Given the description of an element on the screen output the (x, y) to click on. 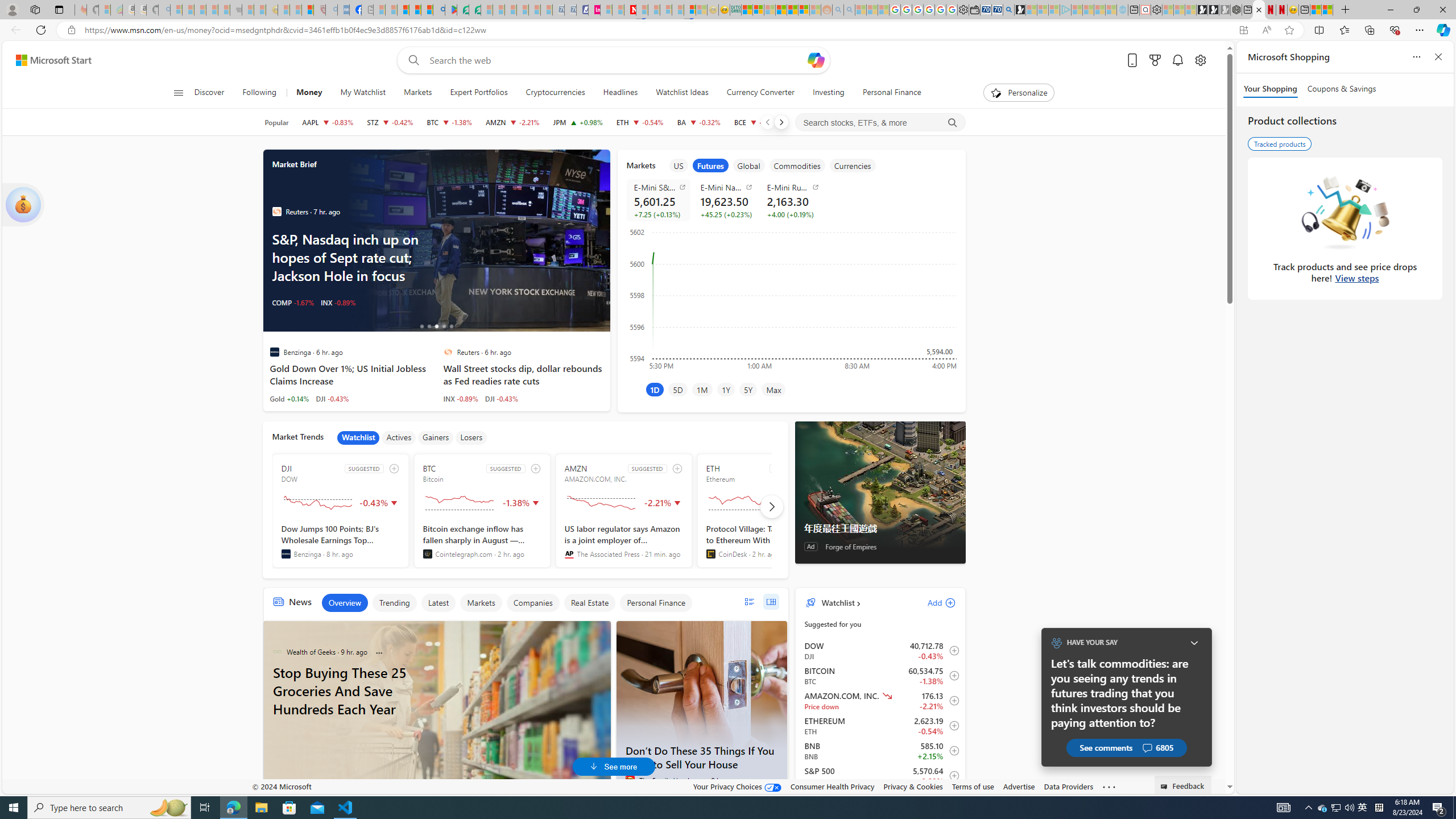
Expert Portfolios (478, 92)
1M (701, 389)
item2 (709, 164)
Personal Finance (654, 602)
Personal Finance (891, 92)
Currency Converter (760, 92)
Traders work on the floor of the NYSE in New York (476, 240)
